Given the description of an element on the screen output the (x, y) to click on. 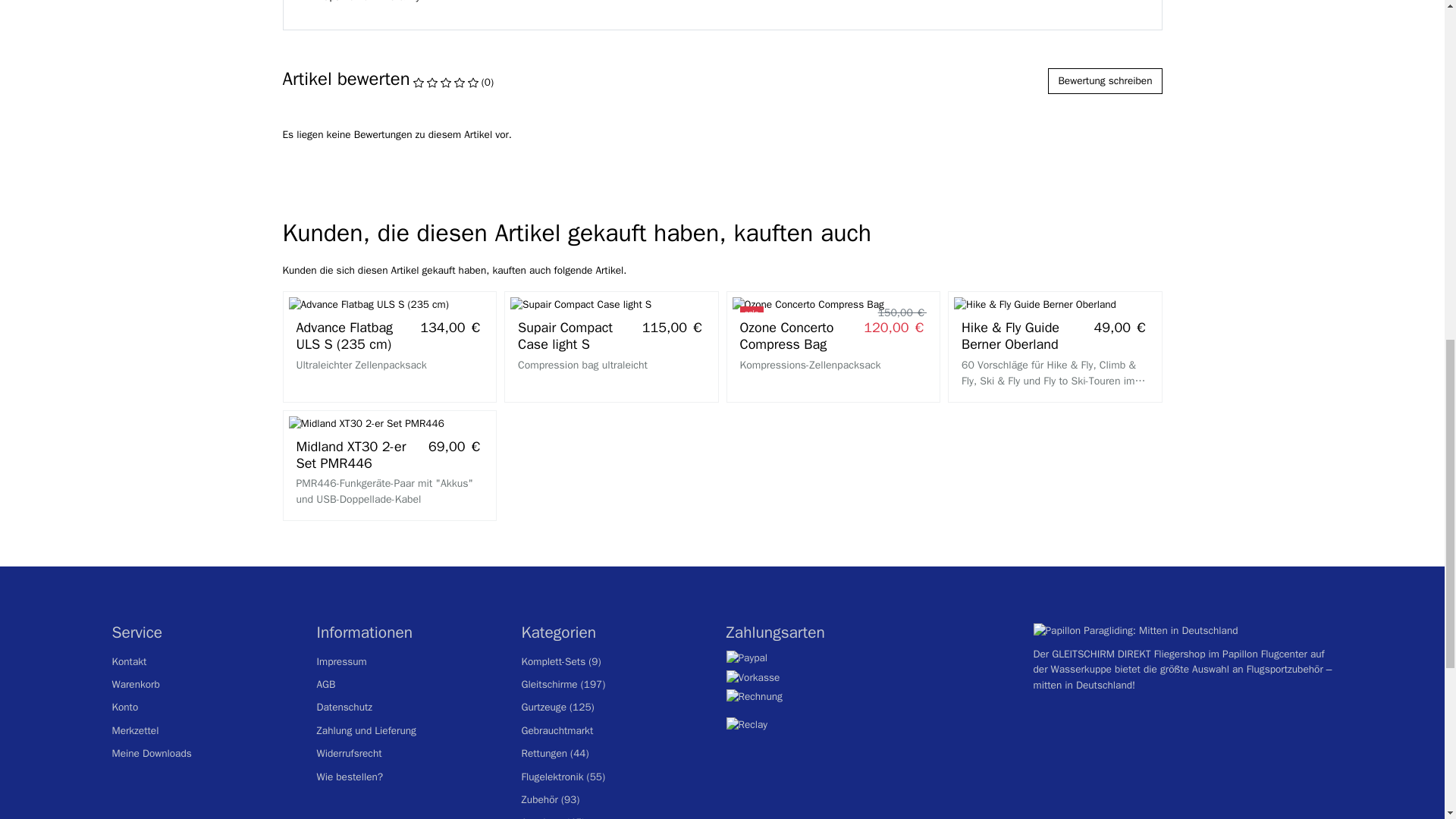
Reclay (747, 724)
Reclay (747, 724)
Anfahrt (1082, 684)
